Given the description of an element on the screen output the (x, y) to click on. 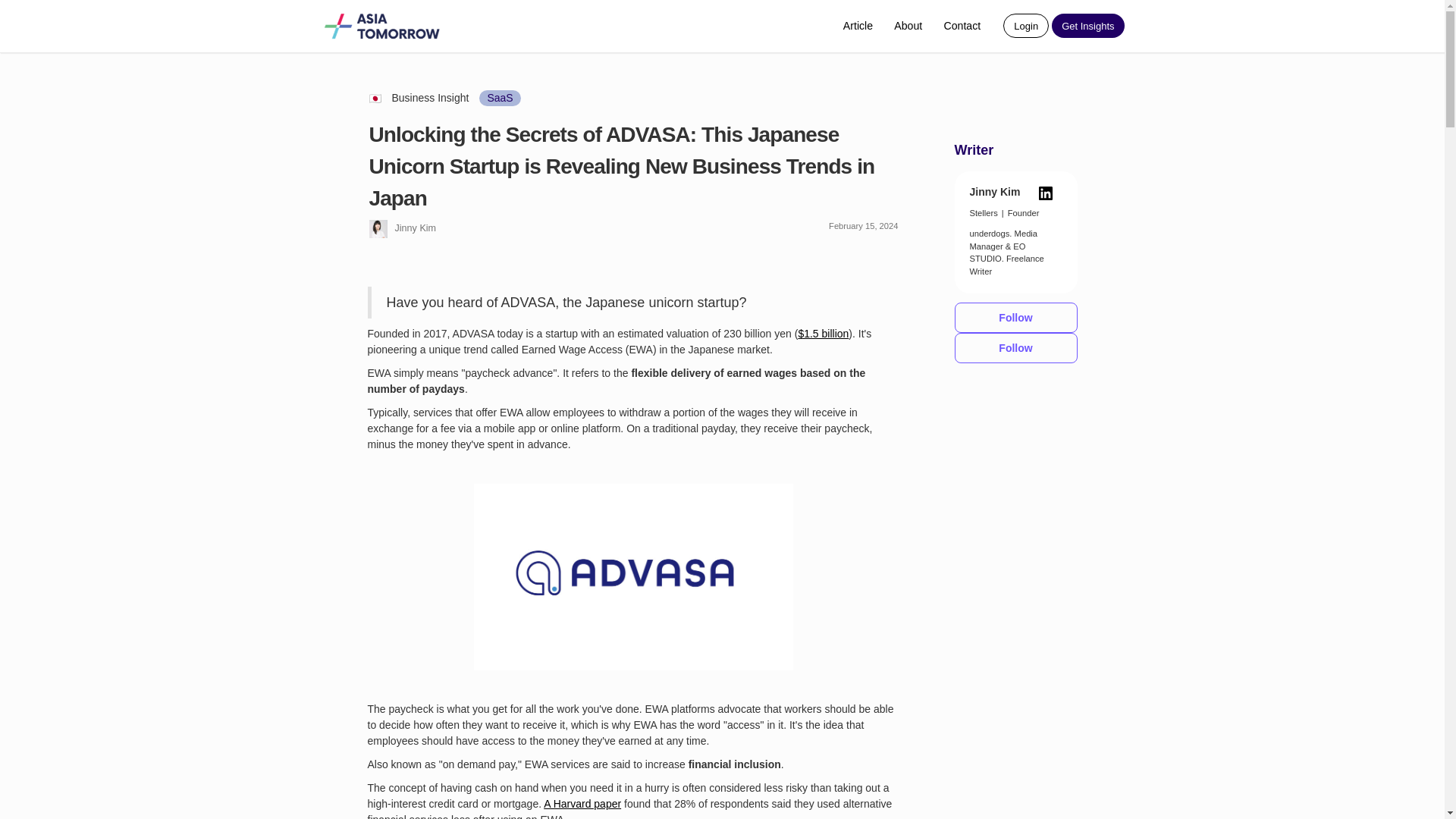
Article (857, 26)
Login (1025, 25)
Get Insights (1087, 25)
Contact (962, 26)
A Harvard paper (582, 803)
About (908, 26)
